Given the description of an element on the screen output the (x, y) to click on. 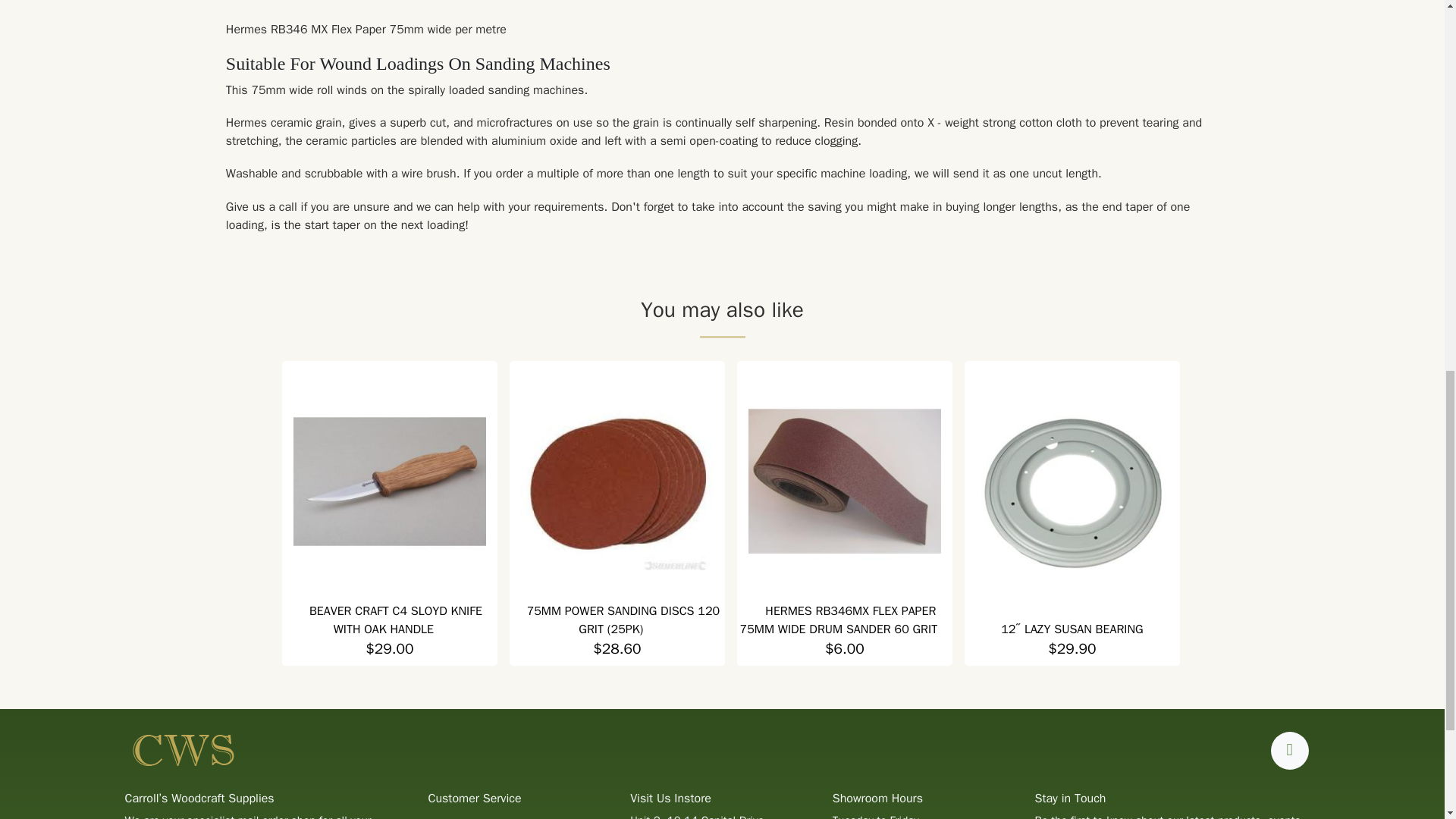
Hermes RB346MX Flex Paper 75mm Wide Drum Sander 60 grit (844, 481)
Hermes RB346MX Flex Paper 75mm Wide Drum Sander 60 grit (838, 620)
Beaver Craft C4 Sloyd Knife with Oak Handle (394, 620)
facebook (1289, 750)
Beaver Craft C4 Sloyd Knife with Oak Handle (390, 481)
